Given the description of an element on the screen output the (x, y) to click on. 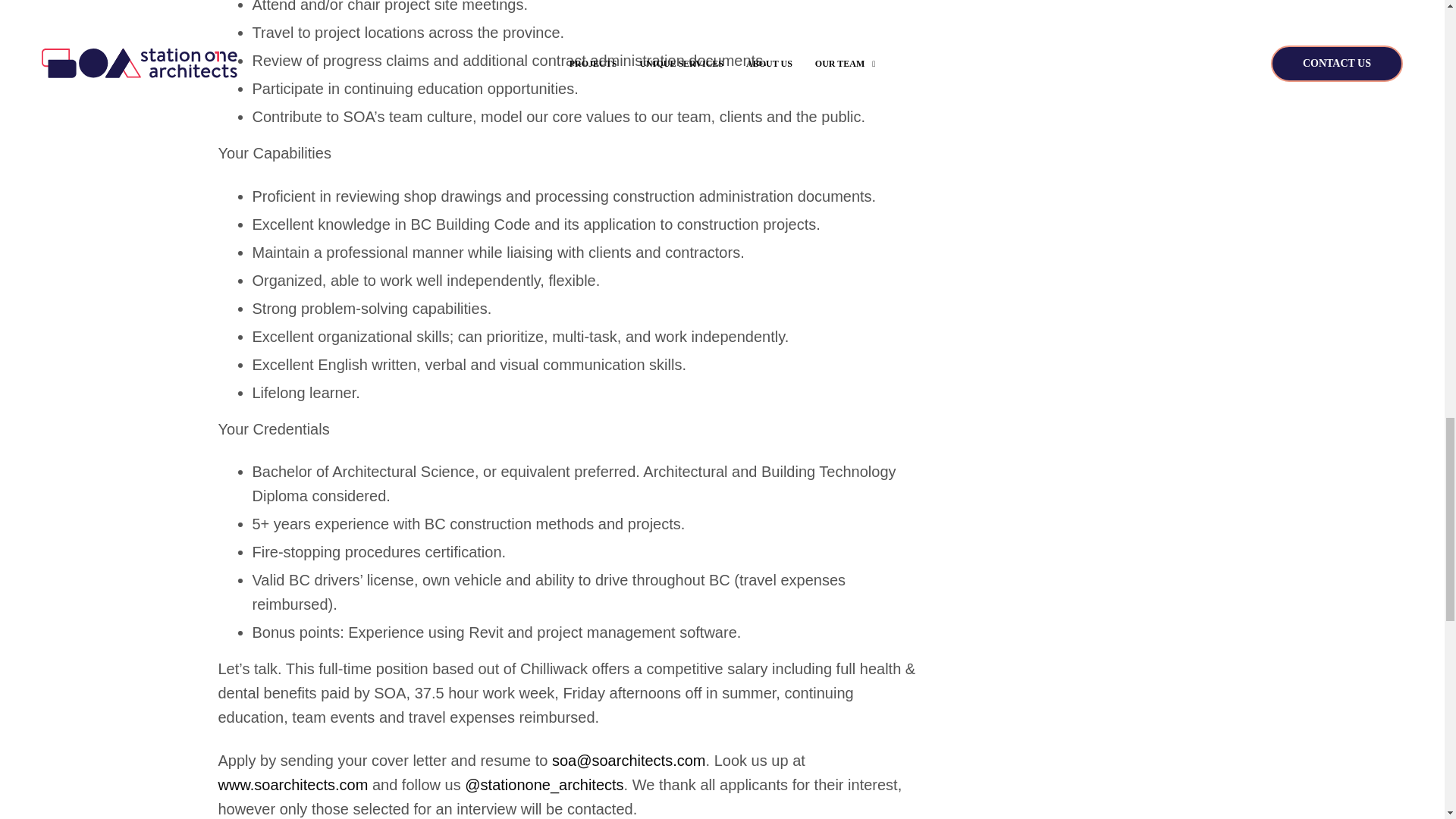
www.soarchitects.com (293, 784)
